Given the description of an element on the screen output the (x, y) to click on. 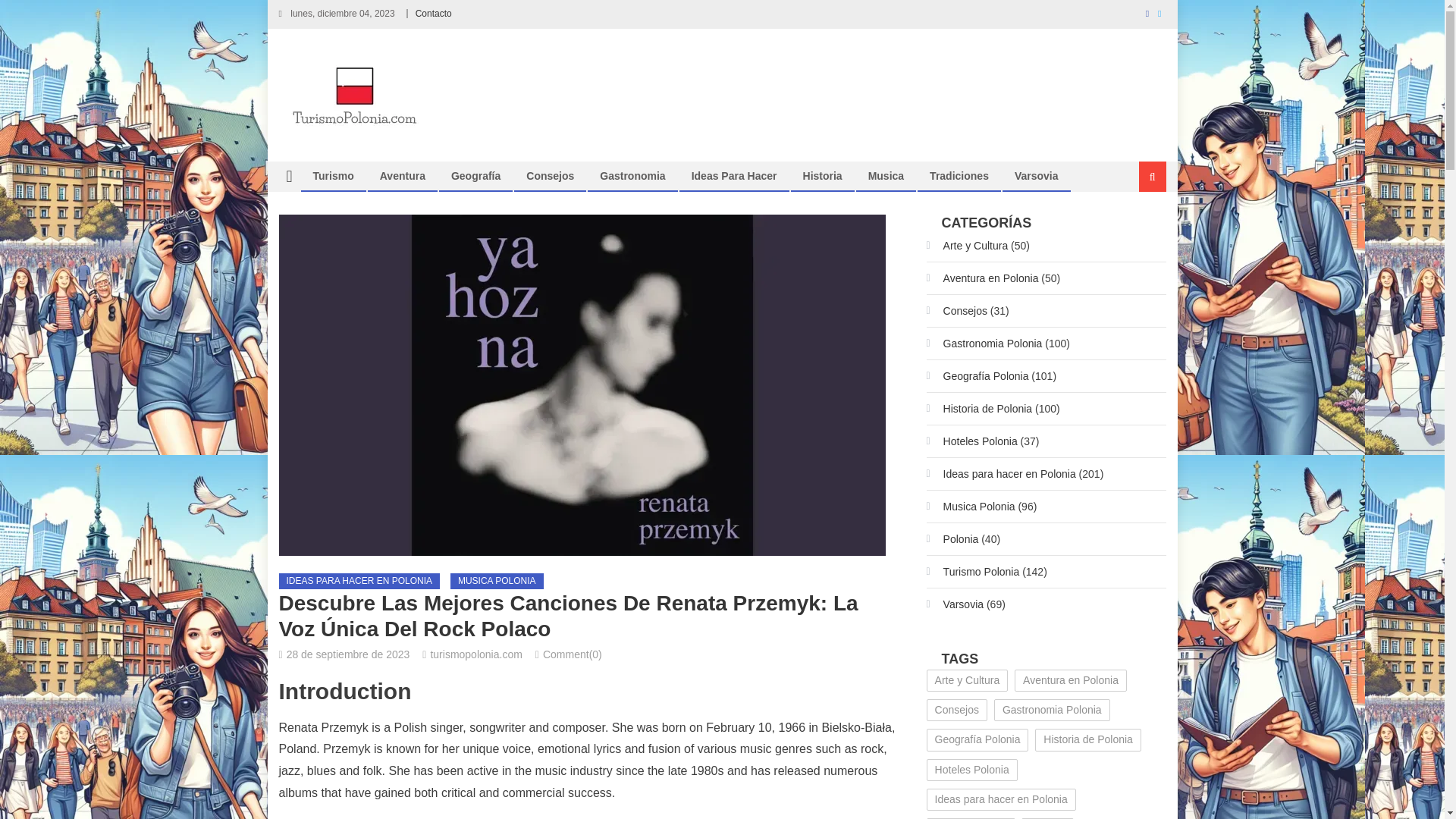
Buscar (1133, 226)
MUSICA POLONIA (496, 581)
Aventura (402, 175)
Tradiciones (959, 175)
Historia (822, 175)
IDEAS PARA HACER EN POLONIA (360, 581)
turismopolonia.com (475, 654)
Consejos (550, 175)
28 de septiembre de 2023 (348, 654)
Gastronomia (632, 175)
